Given the description of an element on the screen output the (x, y) to click on. 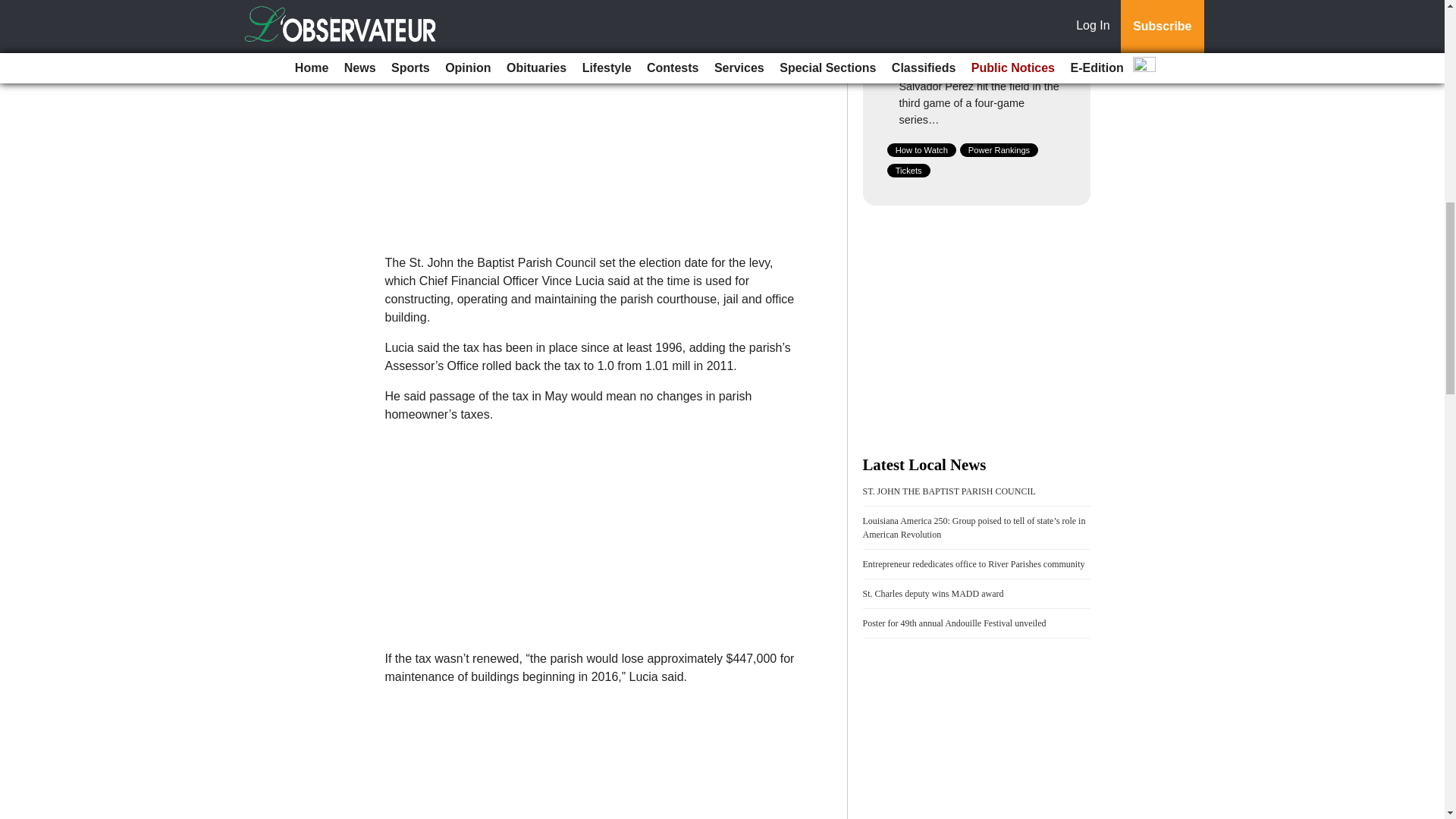
ST. JOHN THE BAPTIST PARISH COUNCIL (949, 491)
Entrepreneur rededicates office to River Parishes community (973, 563)
Tickets (908, 170)
How to Watch (921, 150)
St. Charles deputy wins MADD award (933, 593)
Power Rankings (999, 150)
